Given the description of an element on the screen output the (x, y) to click on. 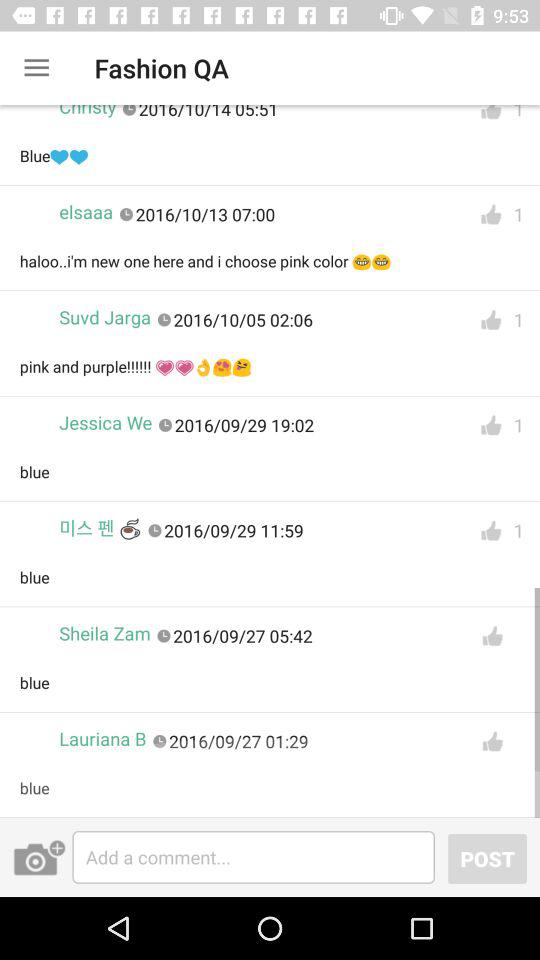
like comment (491, 320)
